Given the description of an element on the screen output the (x, y) to click on. 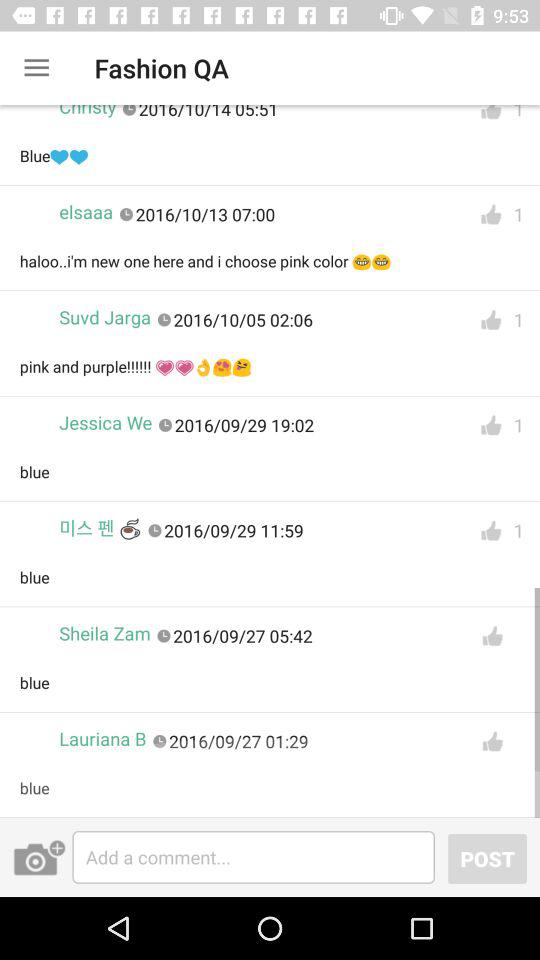
like comment (491, 320)
